Given the description of an element on the screen output the (x, y) to click on. 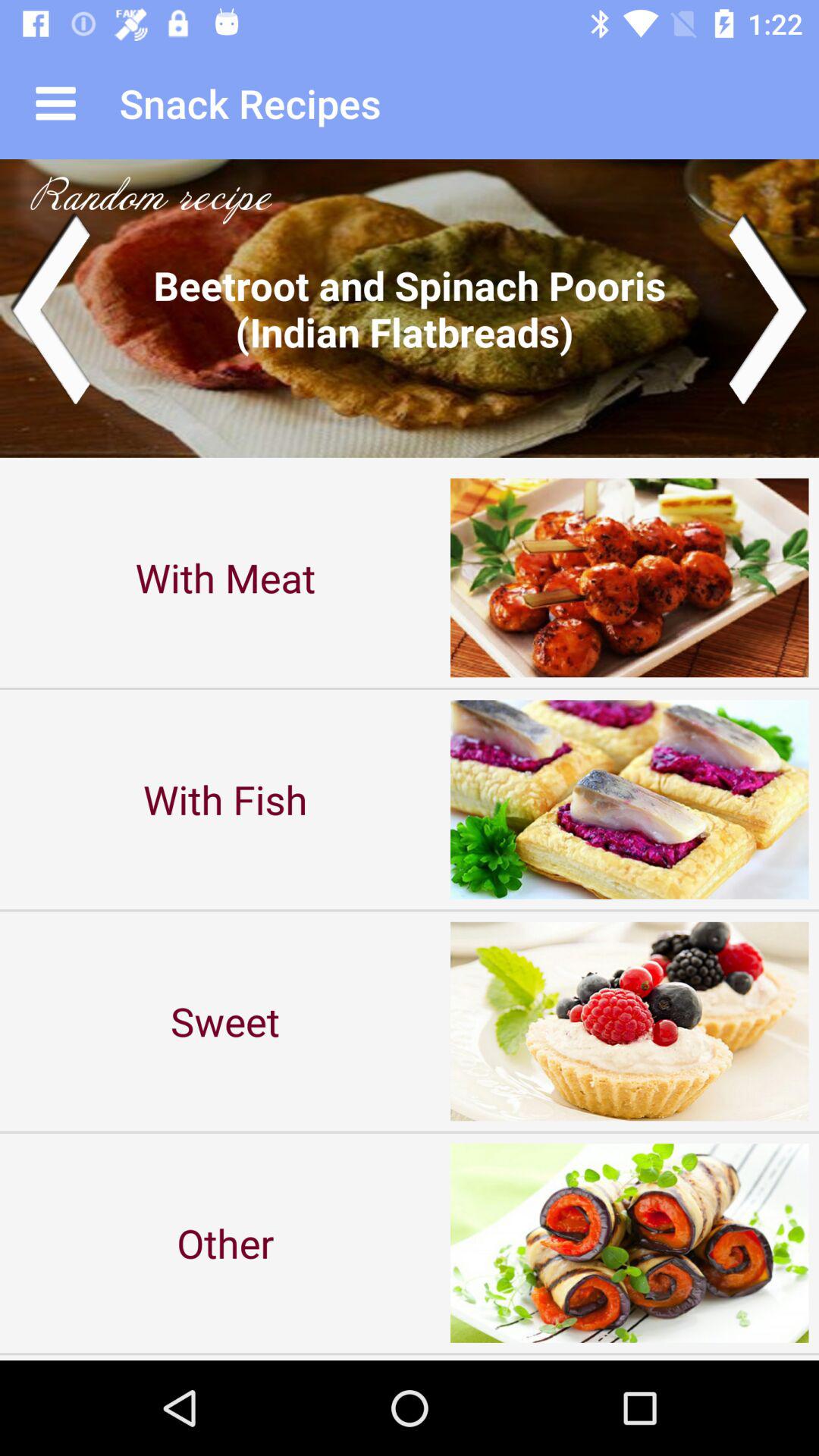
navigate to a previous random recipe (49, 308)
